Given the description of an element on the screen output the (x, y) to click on. 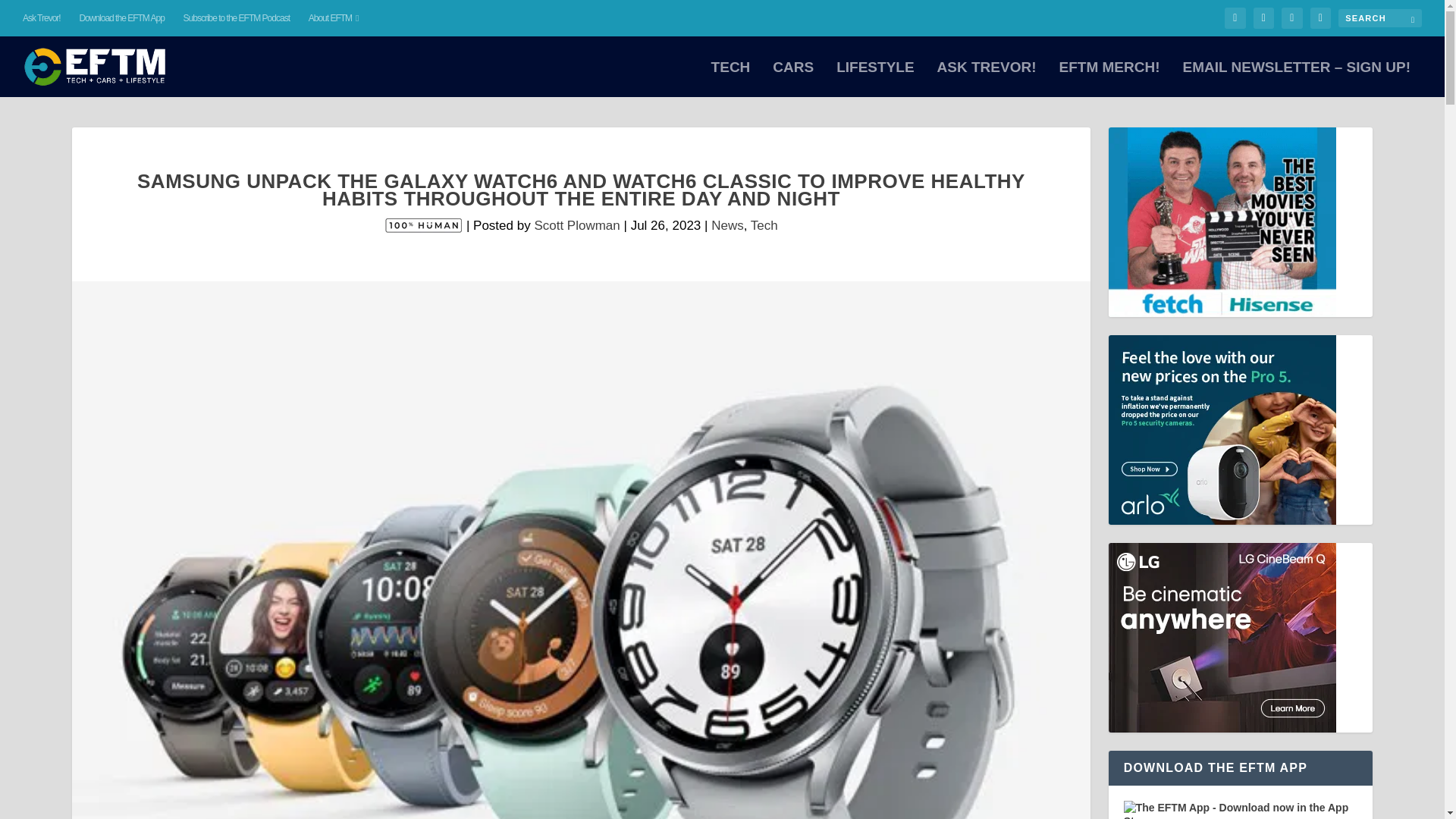
Subscribe to the EFTM Podcast (236, 18)
ASK TREVOR! (986, 79)
EFTM MERCH! (1108, 79)
Download the EFTM App (120, 18)
News (727, 225)
Scott Plowman (577, 225)
Posts by Scott Plowman (577, 225)
About EFTM (333, 18)
Search for: (1380, 18)
CARS (793, 79)
Ask Trevor! (42, 18)
Tech (764, 225)
TECH (731, 79)
LIFESTYLE (874, 79)
